Given the description of an element on the screen output the (x, y) to click on. 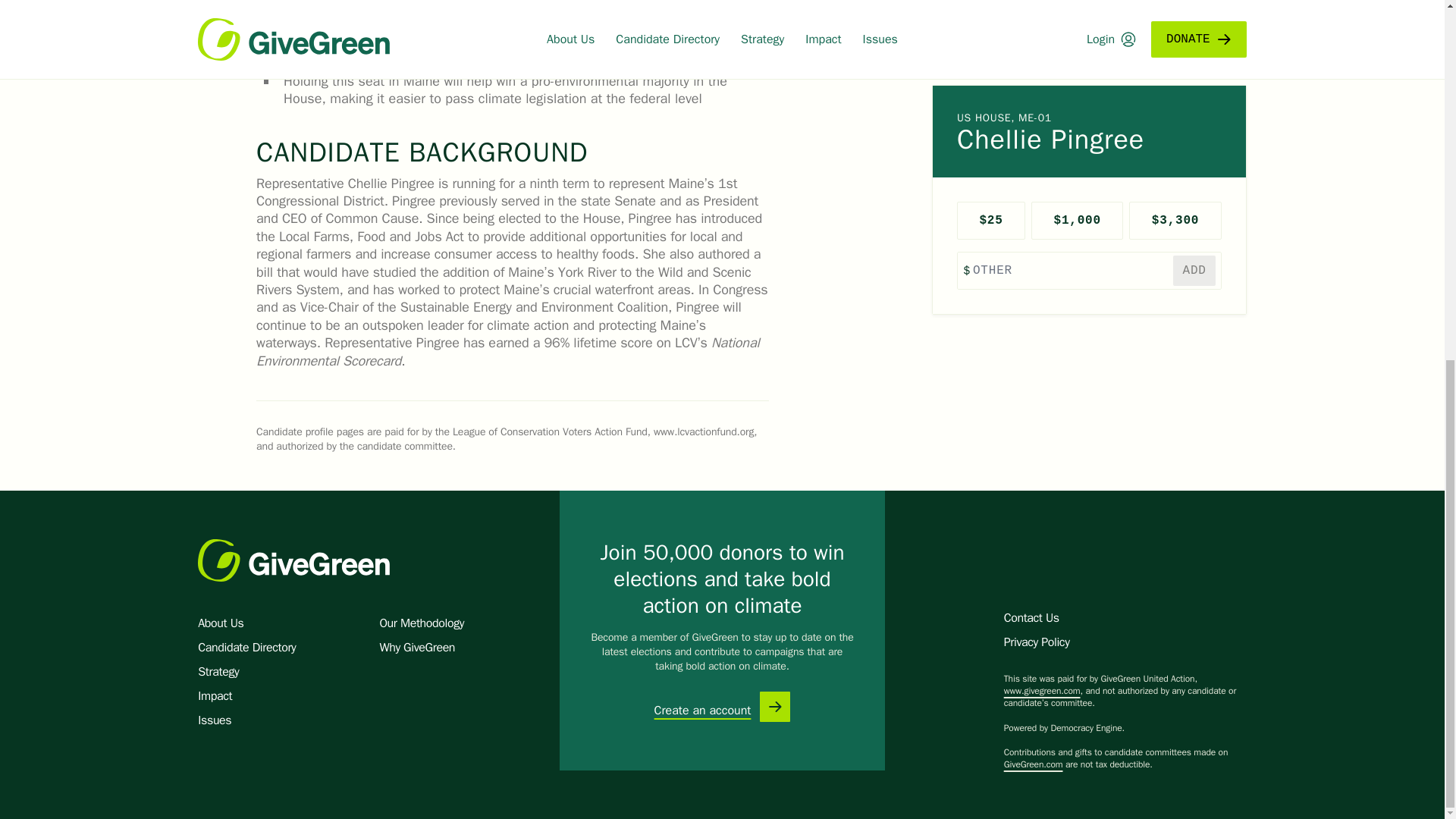
GiveGreen.com (1033, 764)
Contact Us (1031, 617)
Create an account (702, 711)
About Us (220, 622)
Issues (214, 720)
www.givegreen.com (1042, 690)
Privacy Policy (1036, 641)
Candidate Directory (246, 647)
Strategy (218, 671)
Impact (214, 695)
